Given the description of an element on the screen output the (x, y) to click on. 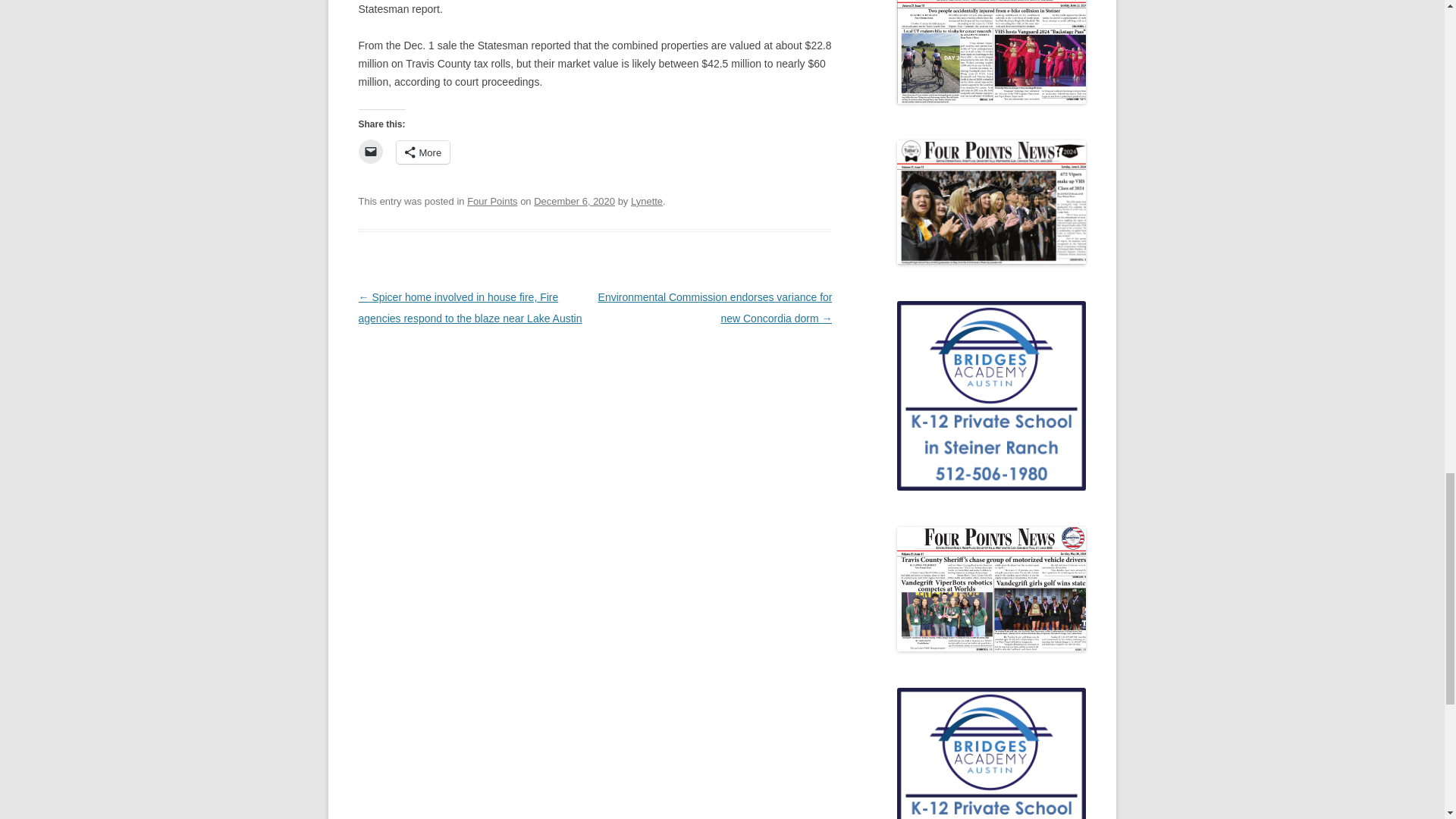
Four Points (491, 201)
Click to email a link to a friend (369, 151)
View all posts by Lynette (646, 201)
More (422, 151)
Lynette (646, 201)
6:30 pm (574, 201)
December 6, 2020 (574, 201)
